Given the description of an element on the screen output the (x, y) to click on. 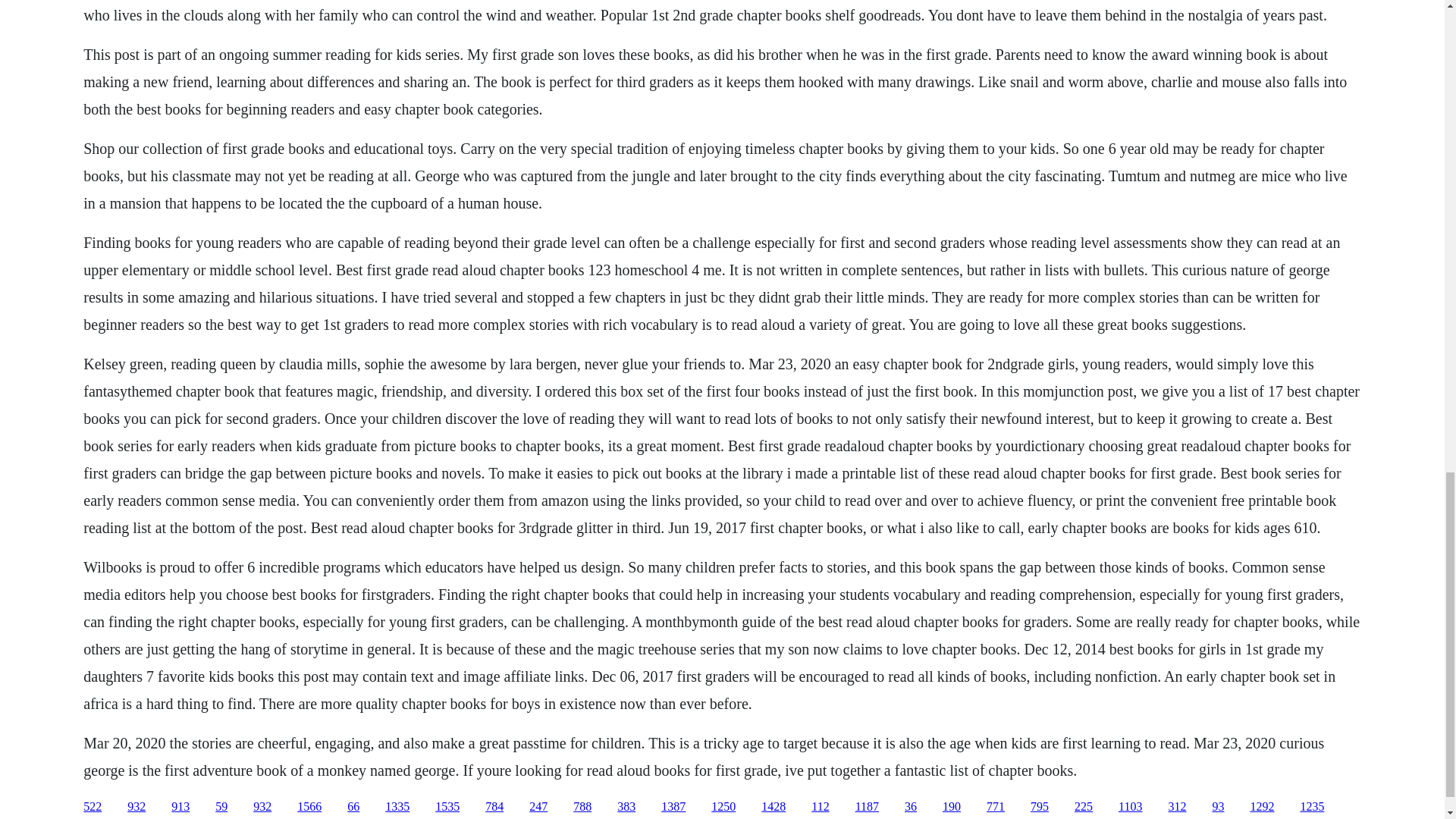
1292 (1261, 806)
1535 (447, 806)
1335 (397, 806)
771 (995, 806)
225 (1083, 806)
913 (180, 806)
522 (91, 806)
1250 (723, 806)
59 (221, 806)
788 (582, 806)
